Given the description of an element on the screen output the (x, y) to click on. 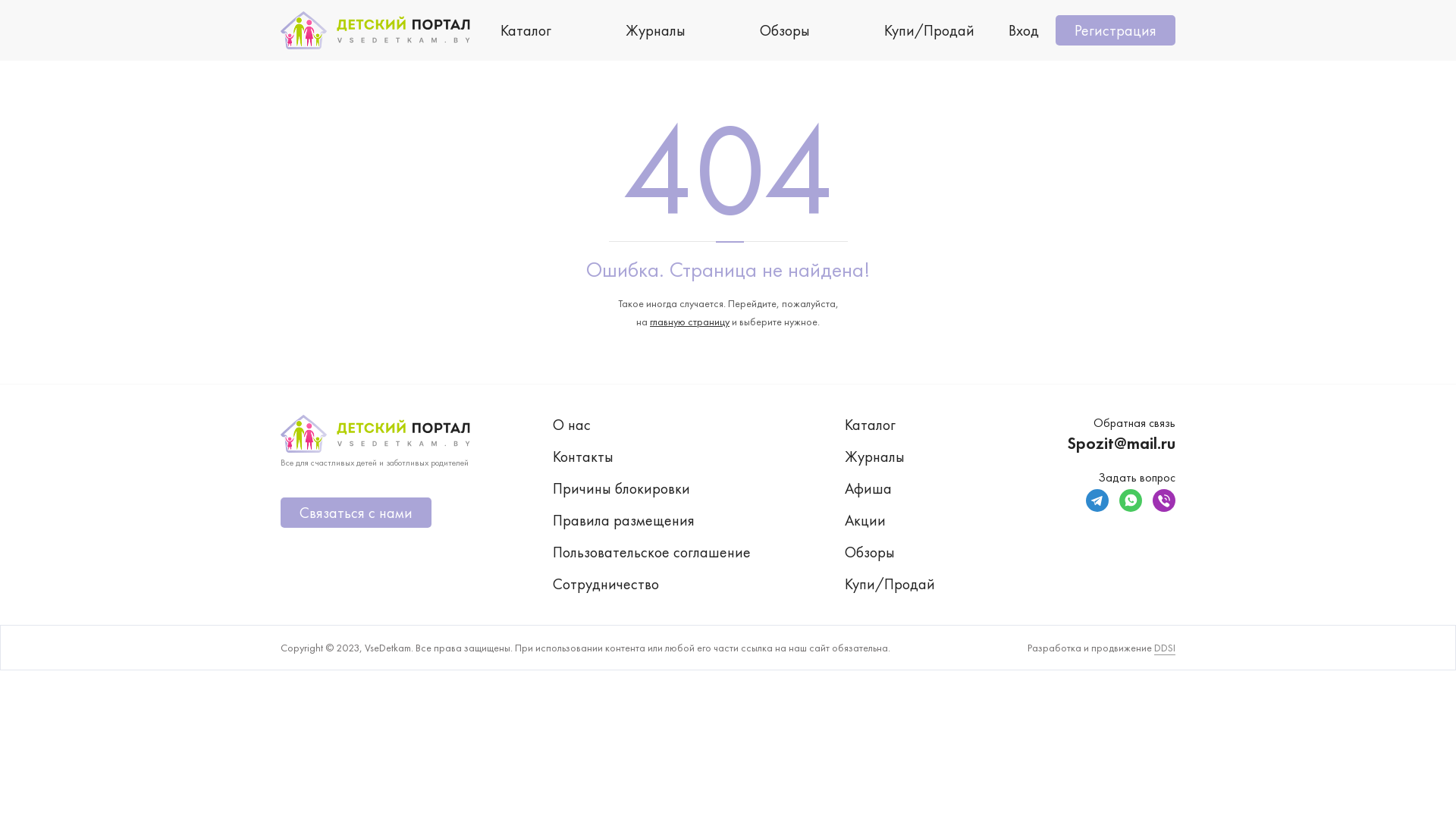
Spozit@mail.ru Element type: text (1120, 443)
DDSI Element type: text (1164, 647)
